Given the description of an element on the screen output the (x, y) to click on. 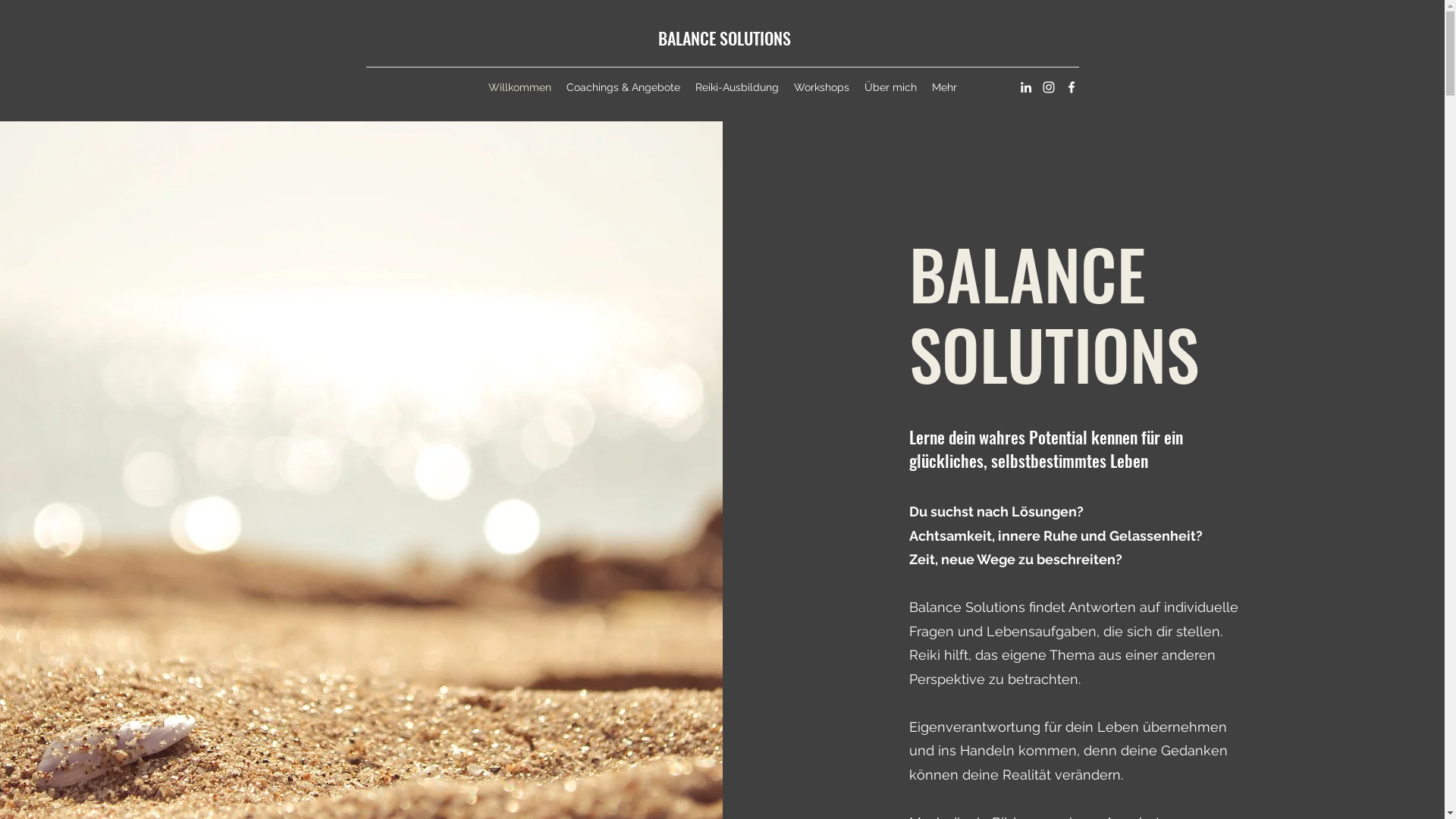
Coachings & Angebote Element type: text (622, 86)
BALANCE SOLUTIONS Element type: text (724, 37)
Workshops Element type: text (820, 86)
Willkommen Element type: text (519, 86)
Reiki-Ausbildung Element type: text (736, 86)
